Given the description of an element on the screen output the (x, y) to click on. 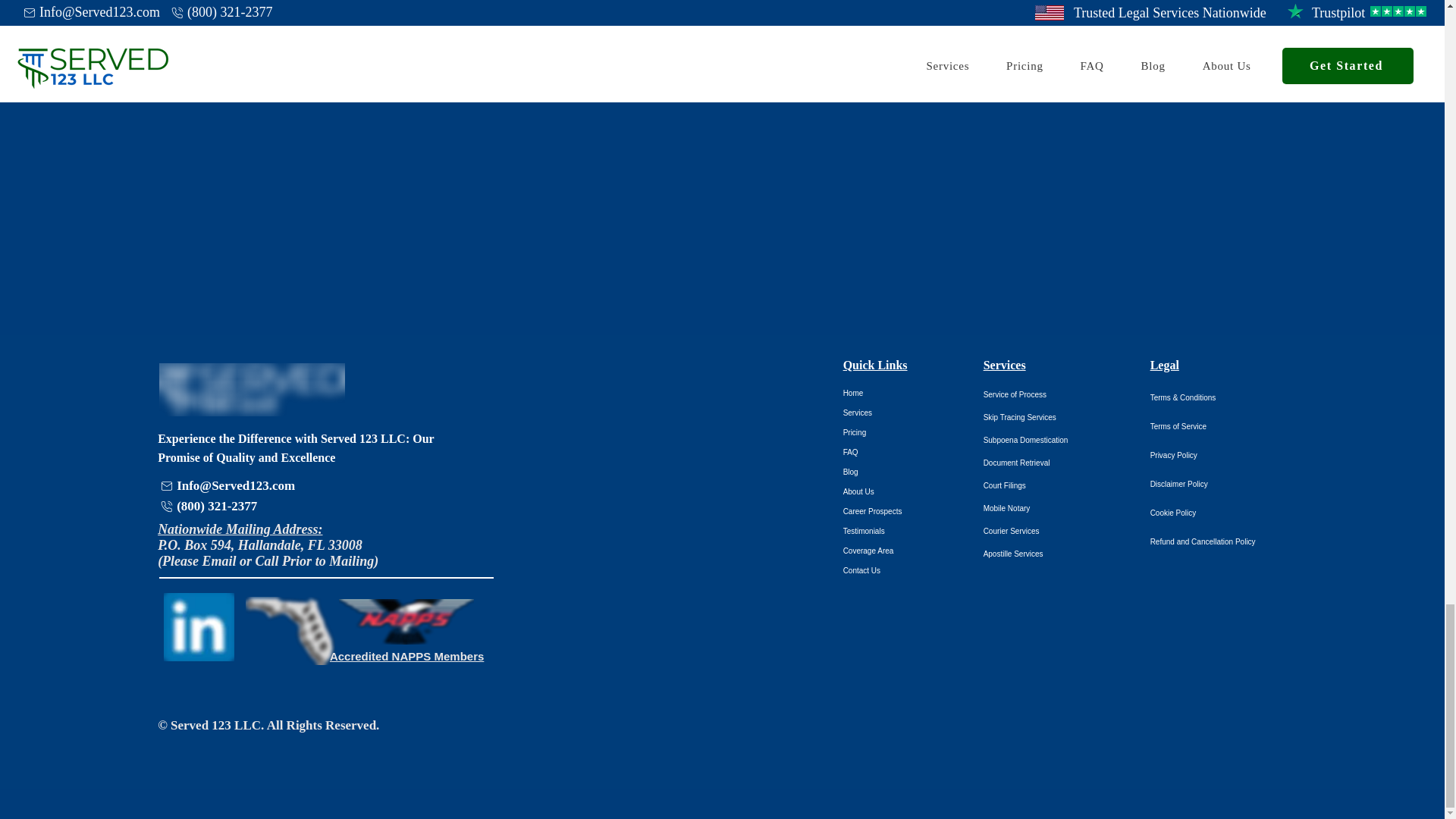
NAPPS Logo.png (406, 621)
Linkedin Logo (198, 626)
